Given the description of an element on the screen output the (x, y) to click on. 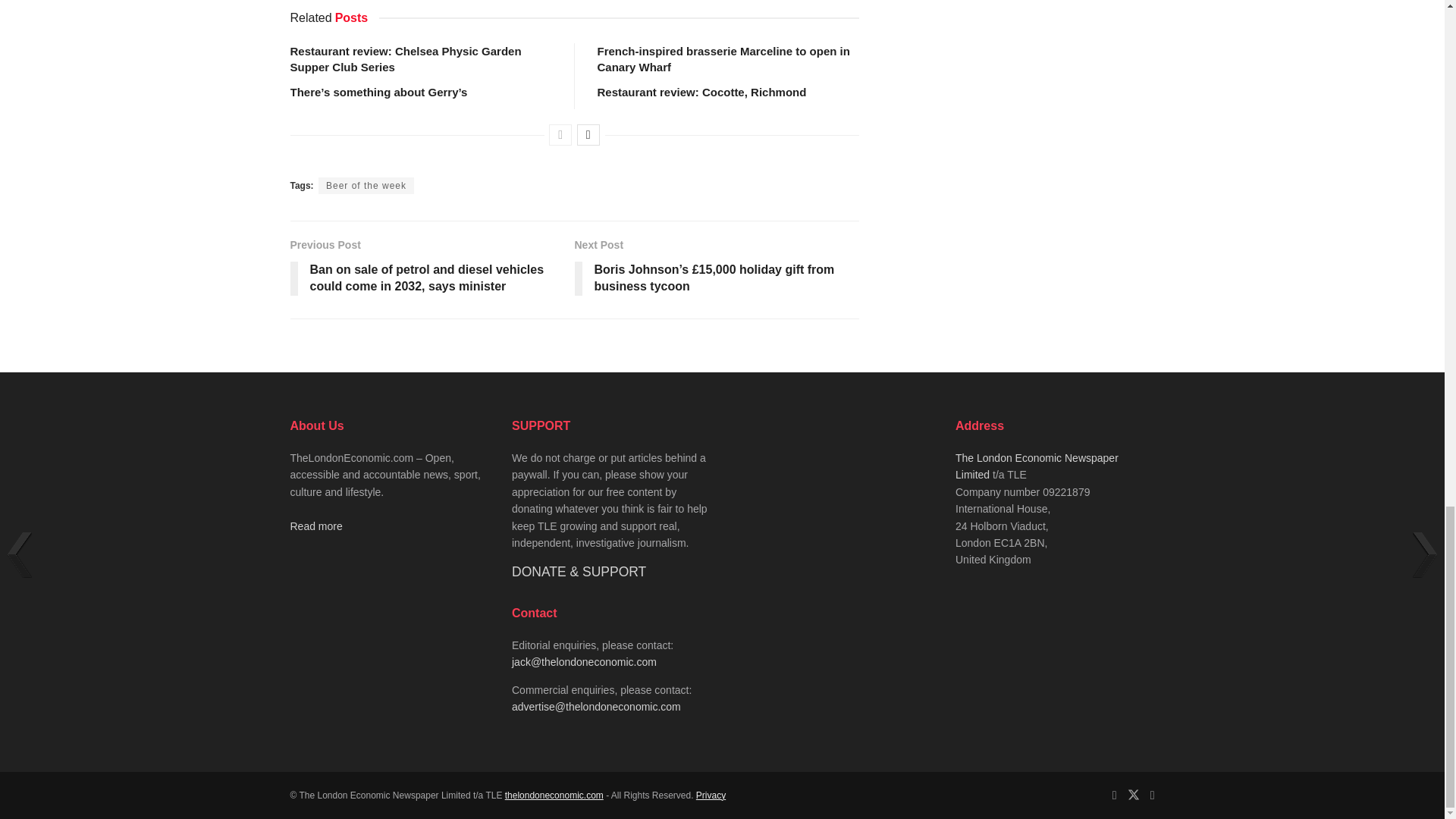
Next (587, 134)
Privacy (710, 795)
The London Economic (554, 795)
Previous (560, 134)
